Given the description of an element on the screen output the (x, y) to click on. 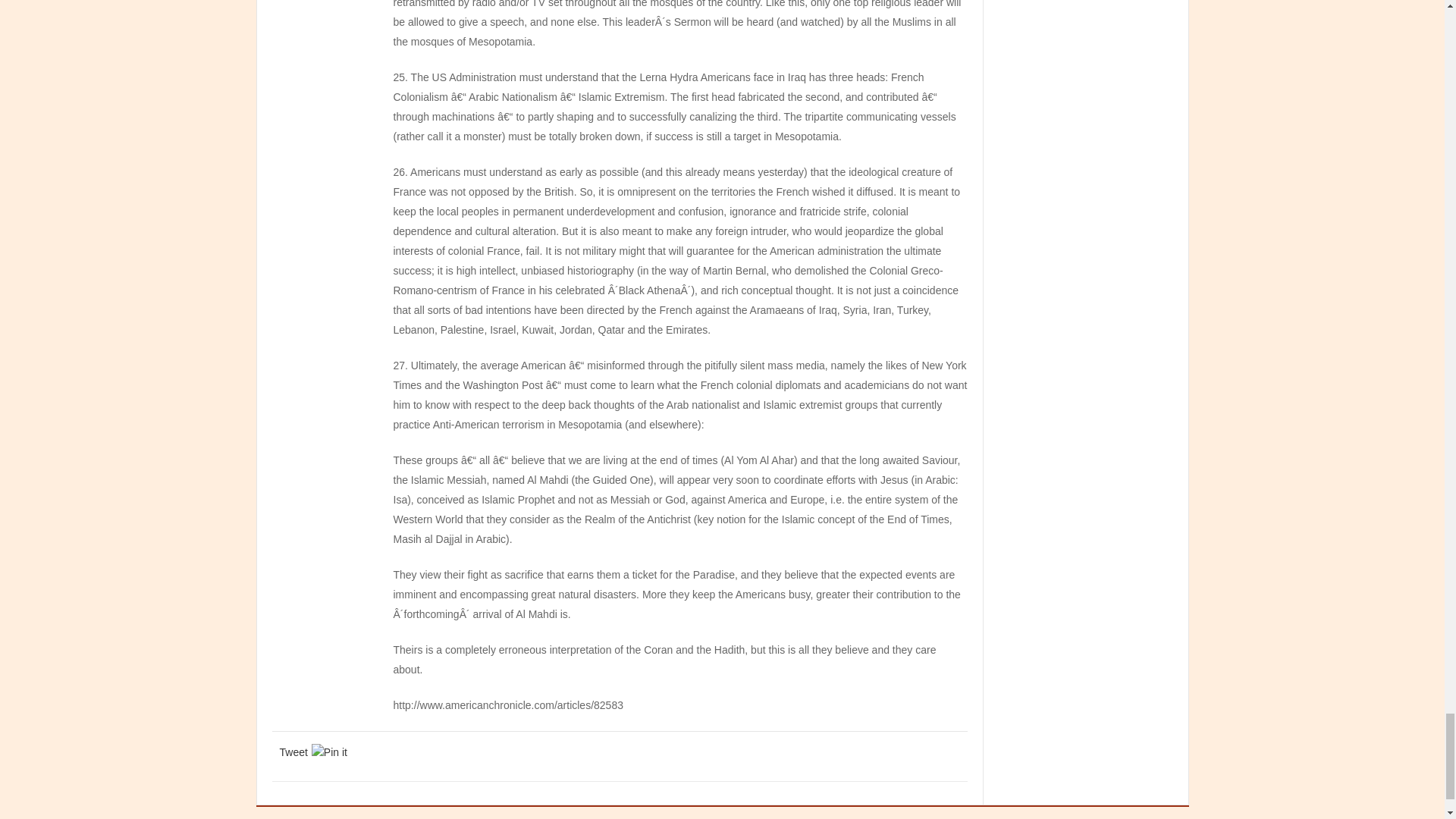
Pin it (329, 751)
Tweet (293, 751)
